Given the description of an element on the screen output the (x, y) to click on. 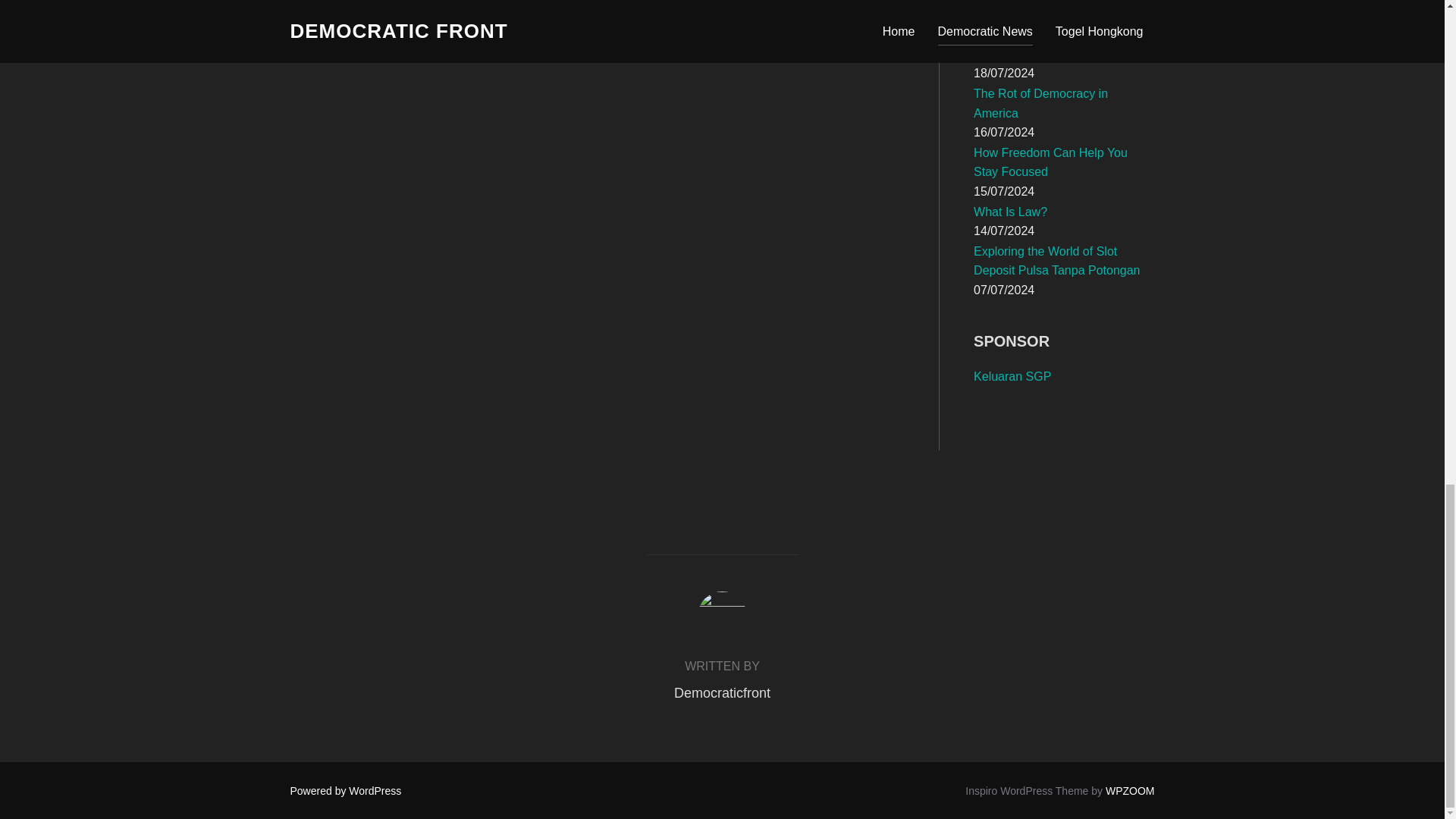
Posts by Democraticfront (722, 693)
